Given the description of an element on the screen output the (x, y) to click on. 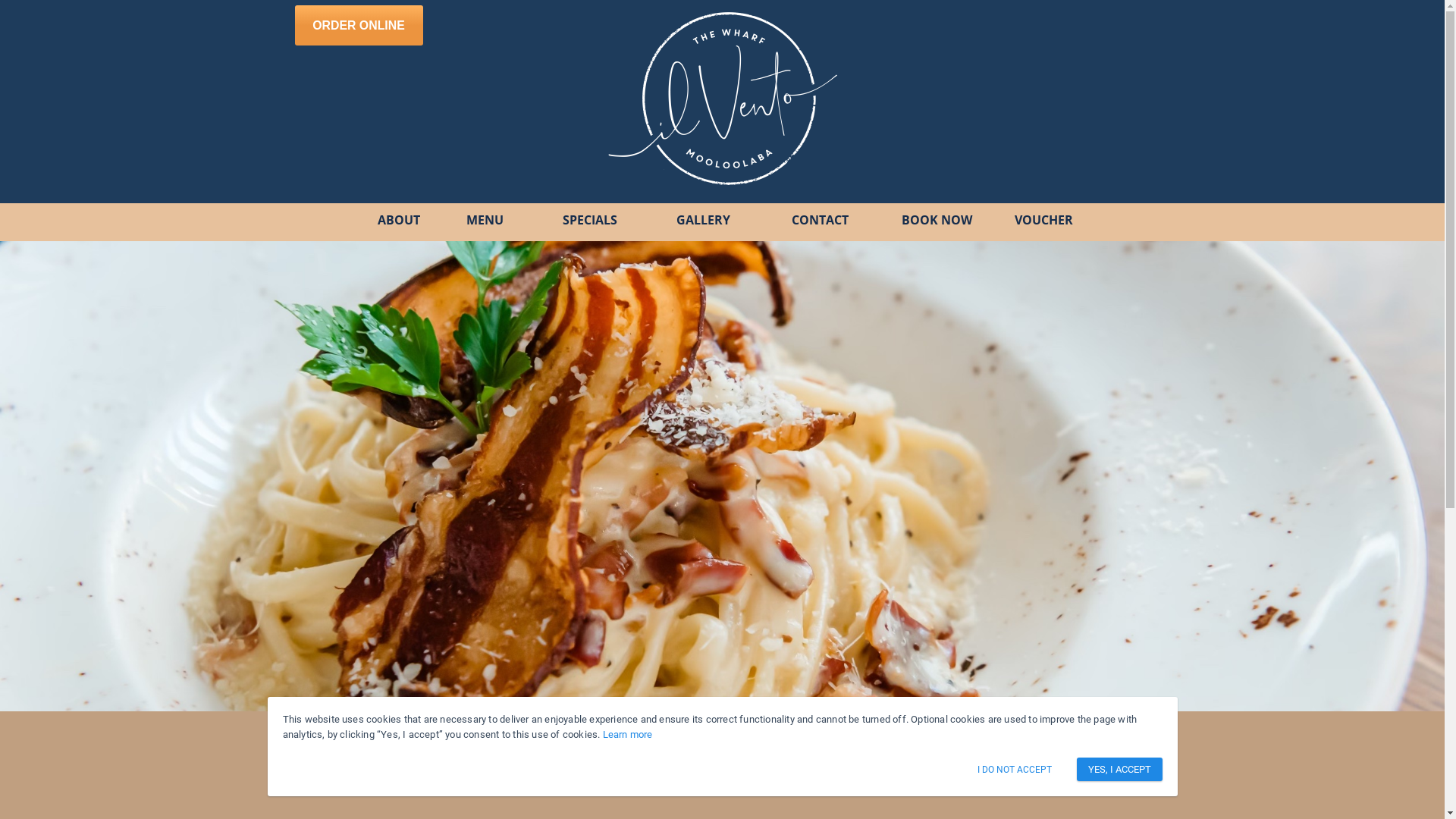
CONTACT Element type: text (819, 220)
BOOK NOW Element type: text (936, 220)
ABOUT Element type: text (397, 220)
GALLERY Element type: text (702, 220)
ORDER ONLINE Element type: text (358, 25)
SPECIALS Element type: text (589, 220)
I DO NOT ACCEPT Element type: text (1014, 769)
YES, I ACCEPT Element type: text (1119, 769)
Learn more Element type: text (627, 734)
MENU Element type: text (485, 220)
VOUCHER Element type: text (1043, 220)
